Given the description of an element on the screen output the (x, y) to click on. 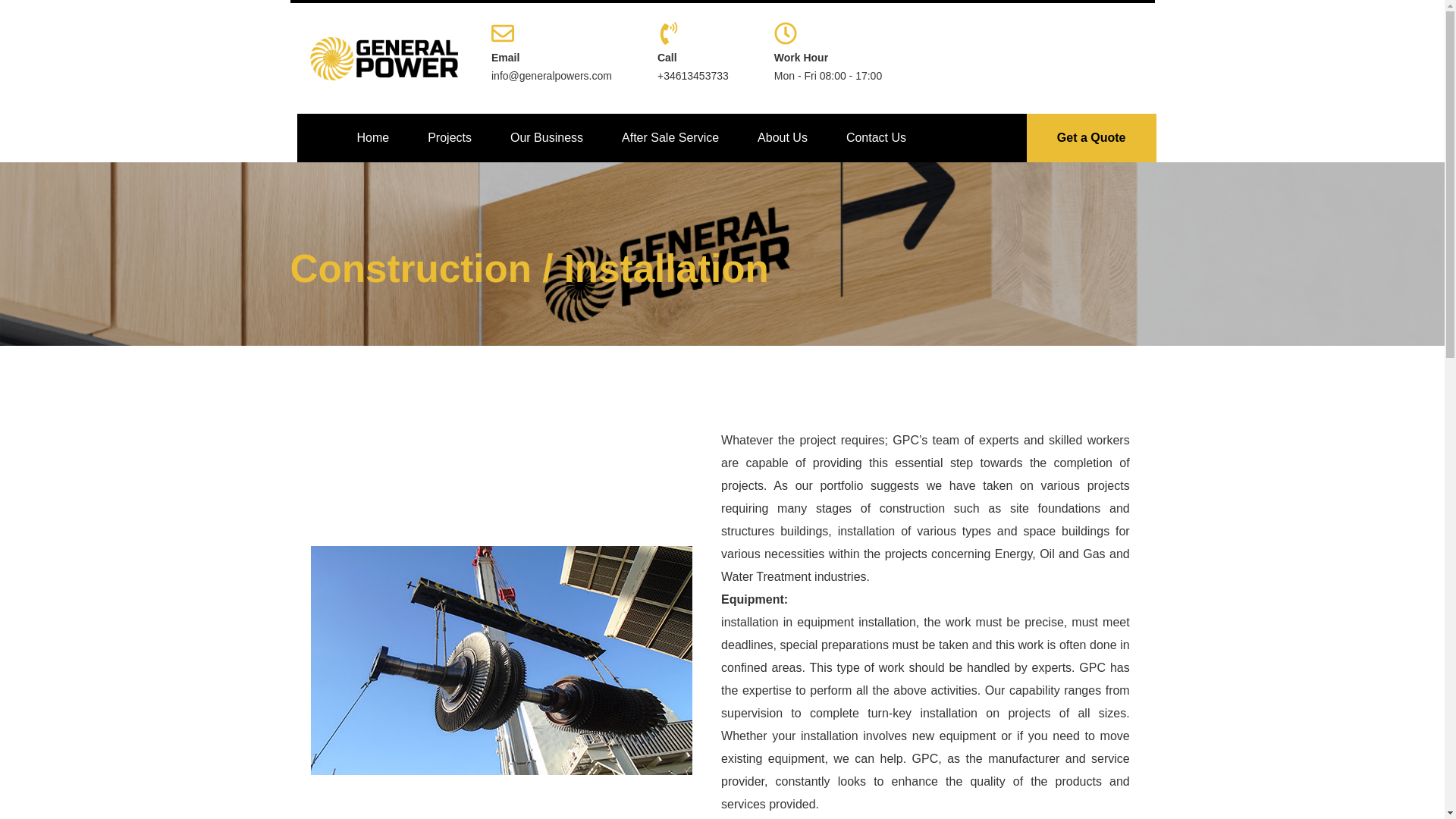
About Us (782, 137)
Home (373, 137)
Projects (449, 137)
After Sale Service (670, 137)
Get a Quote (1091, 137)
Contact Us (875, 137)
Our Business (546, 137)
